Given the description of an element on the screen output the (x, y) to click on. 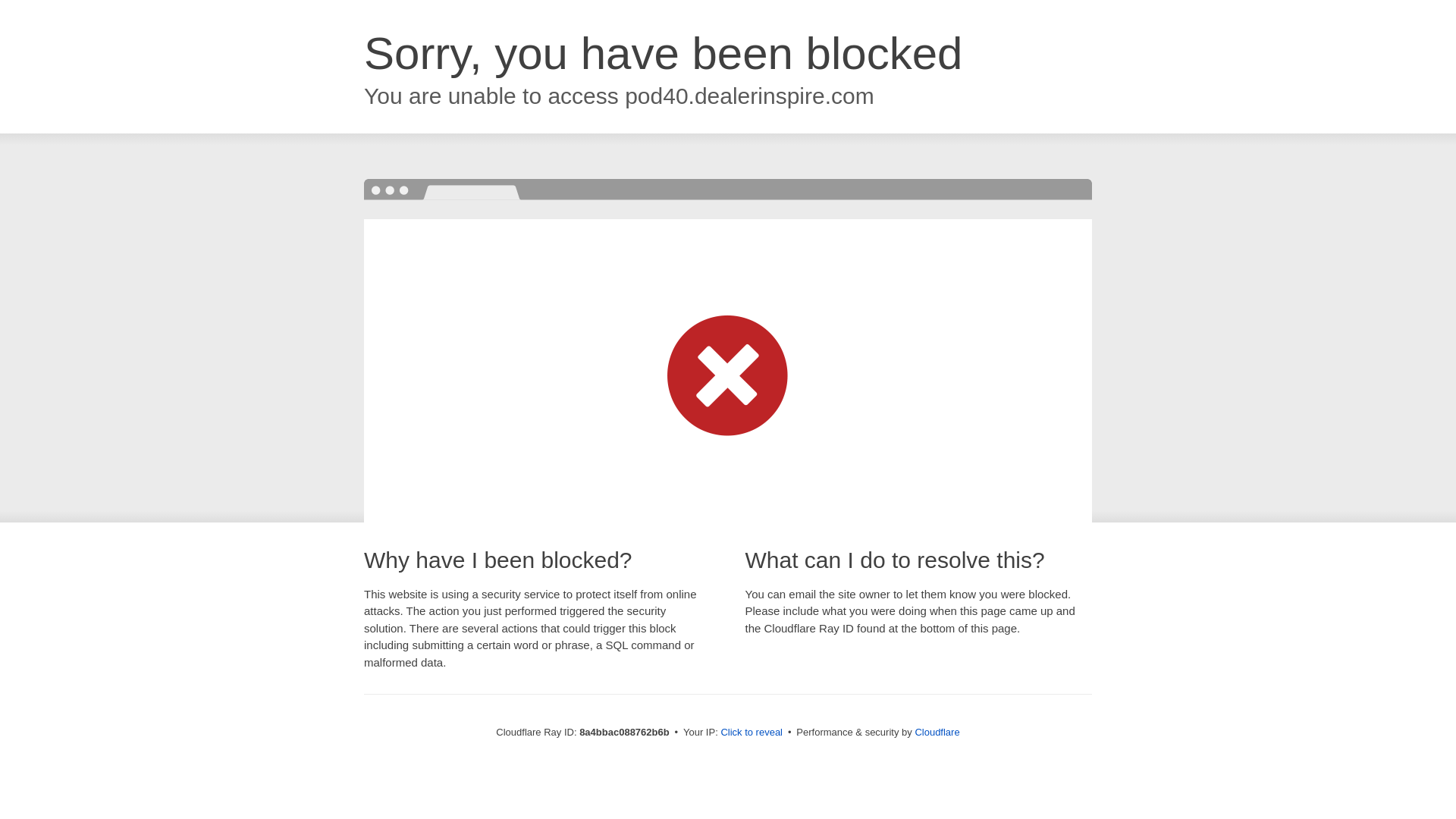
Click to reveal (751, 732)
Cloudflare (936, 731)
